Given the description of an element on the screen output the (x, y) to click on. 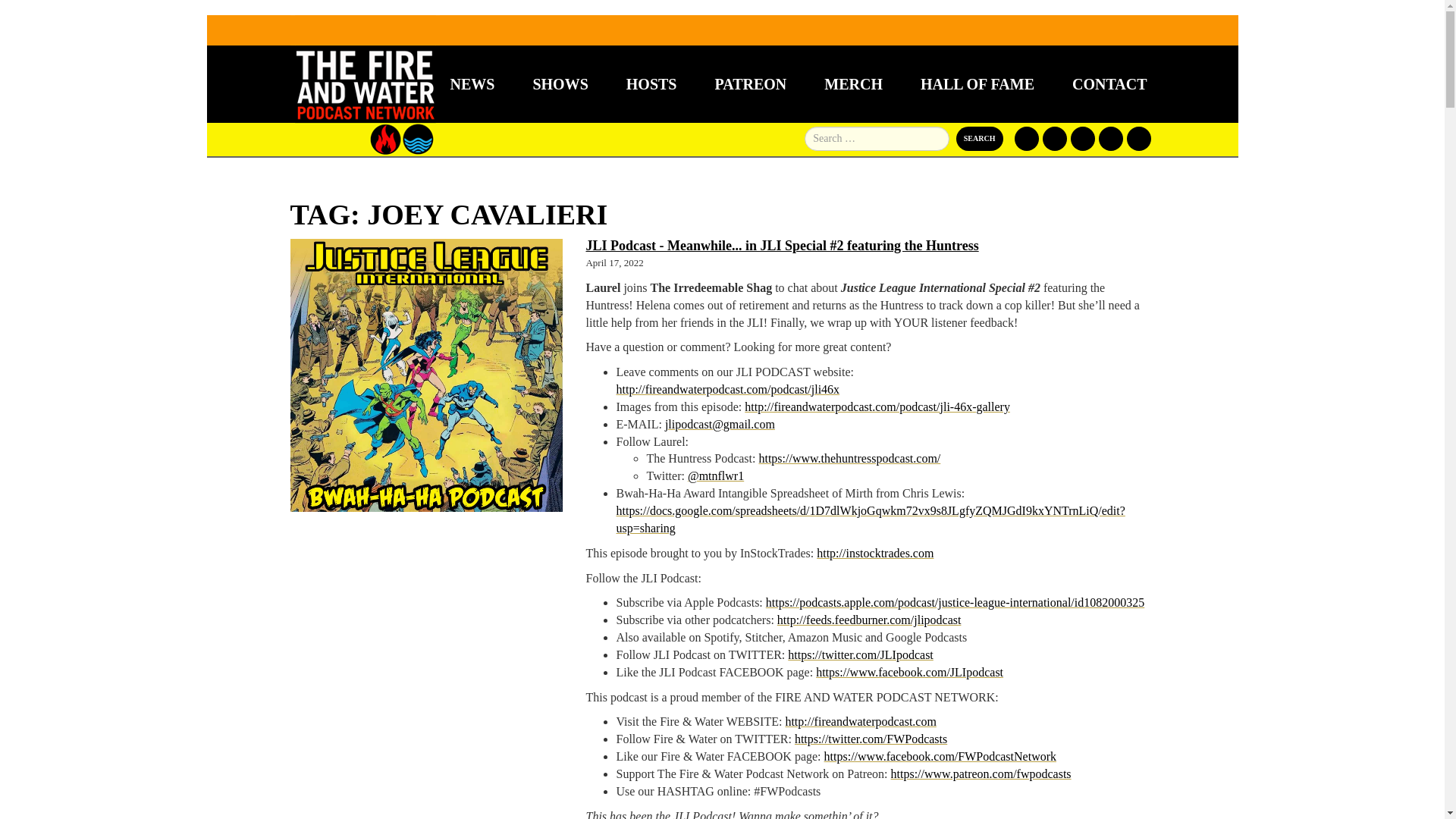
NEWS (471, 83)
CONTACT (1109, 83)
Shows (560, 83)
Hosts (651, 83)
Search (979, 138)
Search (979, 138)
SHOWS (560, 83)
HALL OF FAME (976, 83)
Facebook (1026, 138)
YouTube (1109, 138)
RSS (1138, 138)
Patreon (1082, 138)
Merch (853, 83)
Patreon (1082, 138)
Twitter (1053, 138)
